Given the description of an element on the screen output the (x, y) to click on. 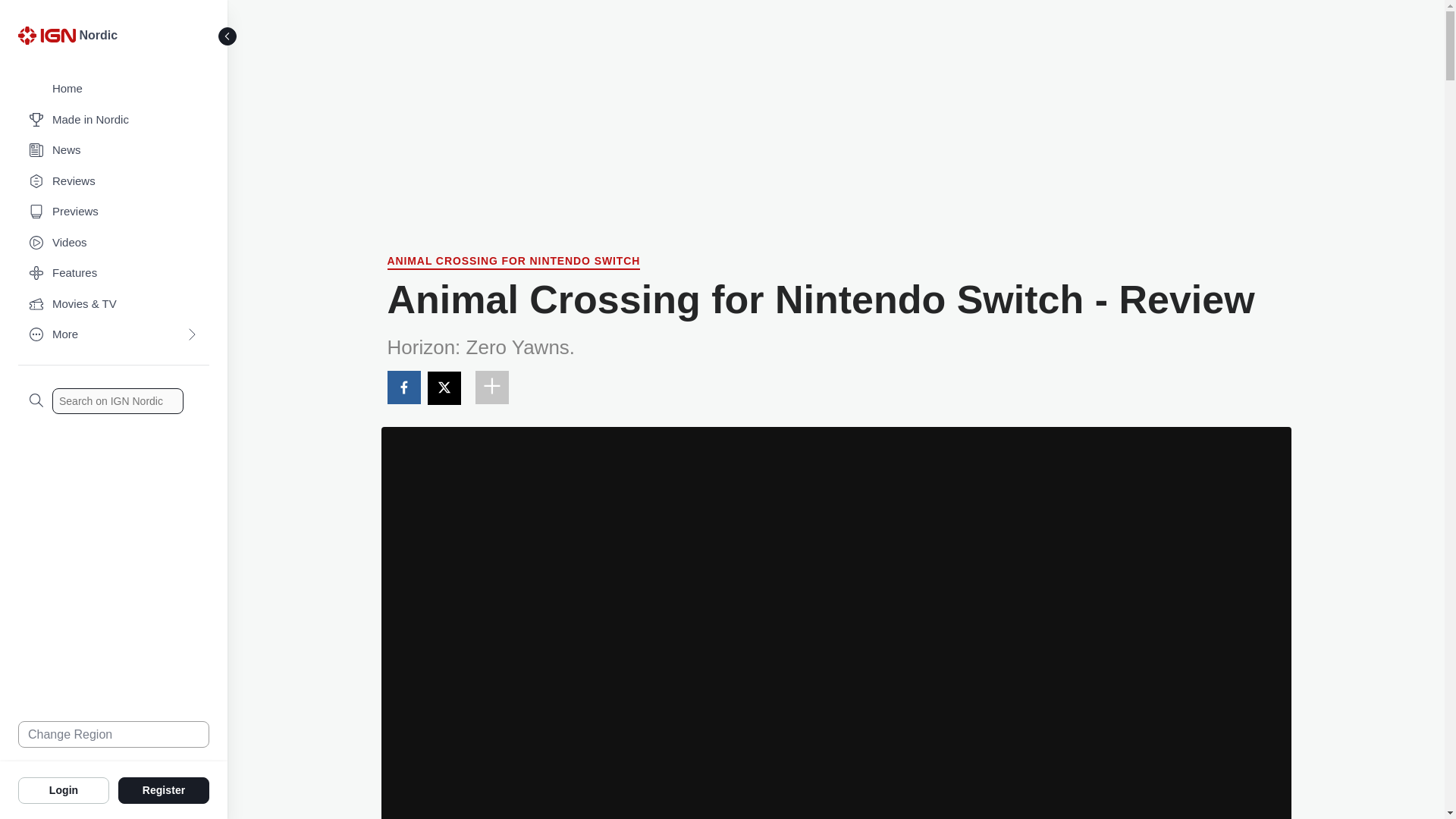
Reviews (113, 181)
Made in Nordic (113, 119)
Home (113, 89)
More (113, 334)
IGN Logo (46, 34)
IGN Logo (48, 39)
Features (113, 273)
Toggle Sidebar (226, 36)
Videos (113, 242)
Animal Crossing for Nintendo Switch (513, 262)
